Given the description of an element on the screen output the (x, y) to click on. 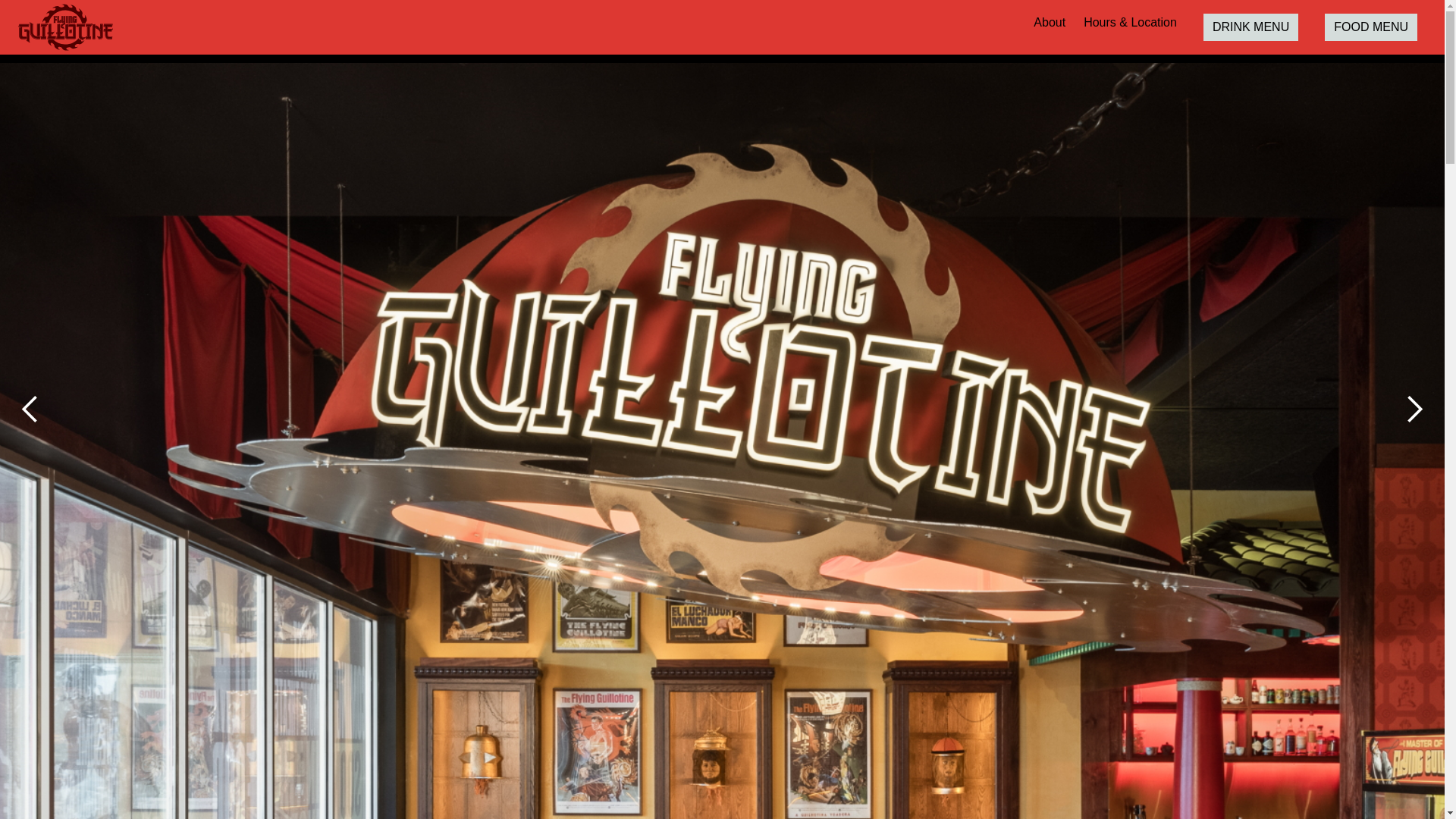
DRINK MENU Element type: text (1081, 26)
Hours & Location Element type: text (1130, 22)
Hours & Location Element type: text (833, 22)
FOOD MENU Element type: text (1370, 26)
About Element type: text (660, 22)
DRINK MENU Element type: text (1250, 26)
FOOD MENU Element type: text (1315, 26)
About Element type: text (1049, 22)
